Given the description of an element on the screen output the (x, y) to click on. 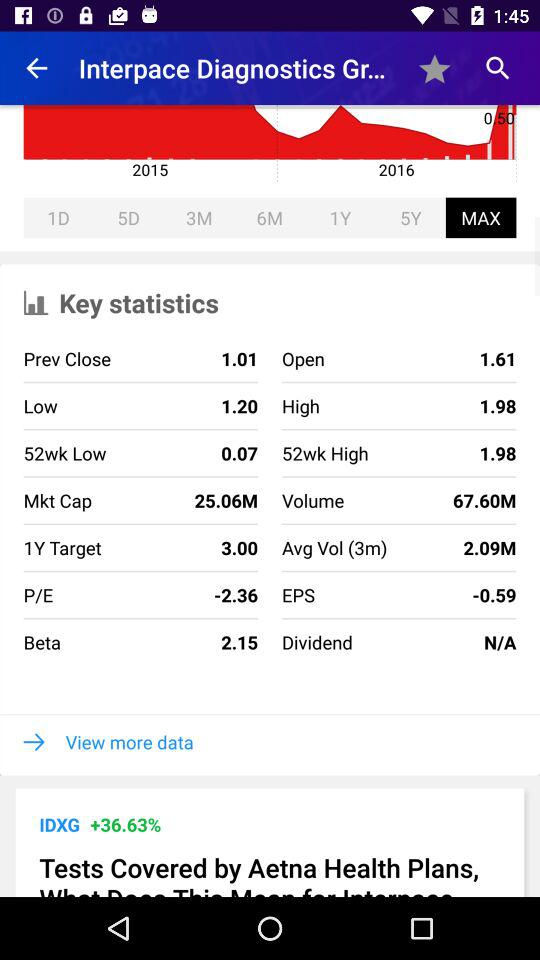
tap the eps (297, 595)
